Given the description of an element on the screen output the (x, y) to click on. 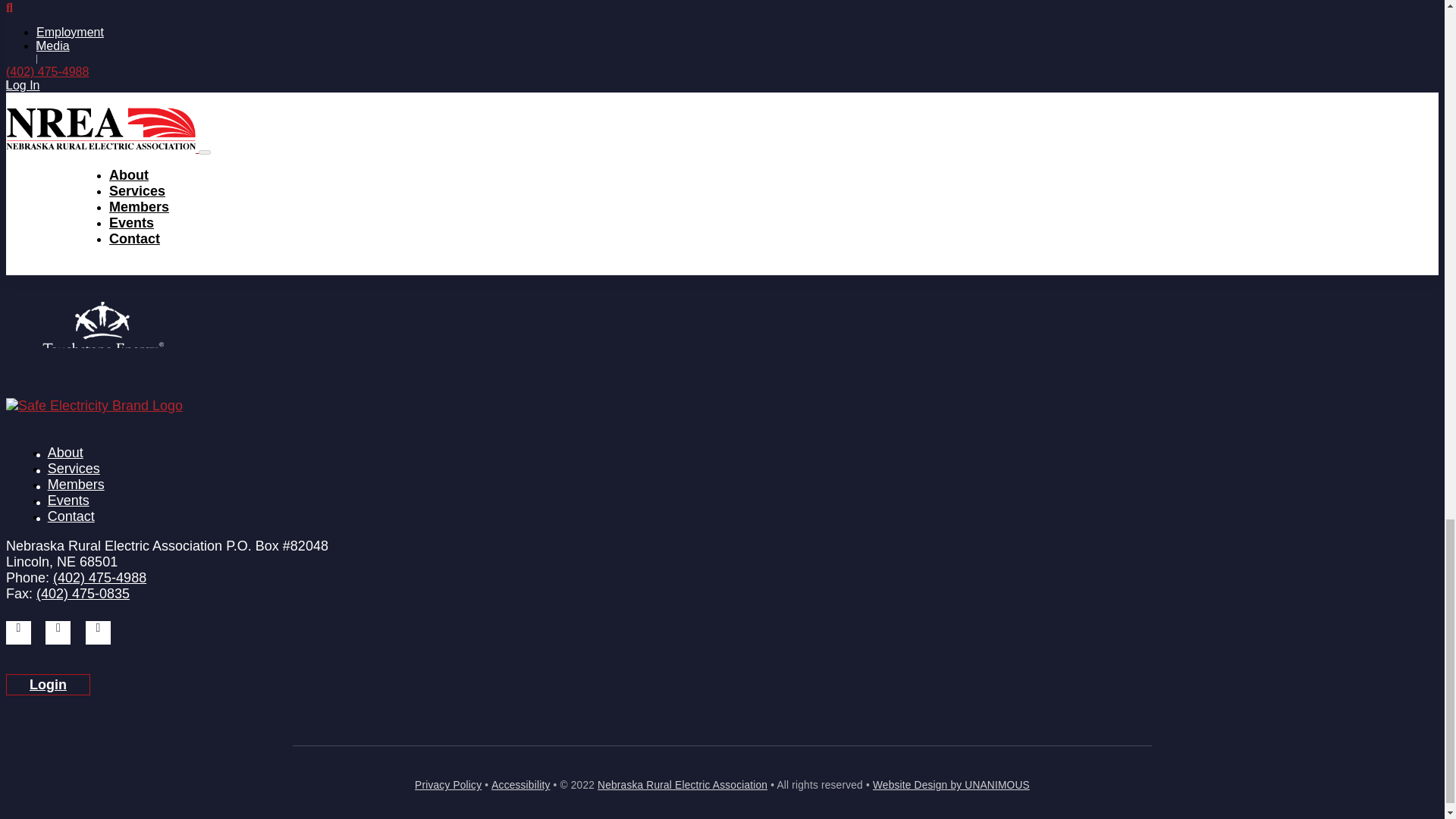
Events (67, 499)
Privacy Policy (447, 785)
About (64, 452)
Members (75, 484)
Call NREA for support. (99, 577)
Connect on LinkedIn (57, 632)
Services (73, 467)
Login to the member area. (47, 684)
Join us on Facebook (17, 632)
WIRE (67, 9)
Accessibility Policy (521, 785)
Unanimous web development and support. (950, 785)
Youth Programs (94, 23)
Join us on YouTube (97, 632)
Contact (70, 515)
